Given the description of an element on the screen output the (x, y) to click on. 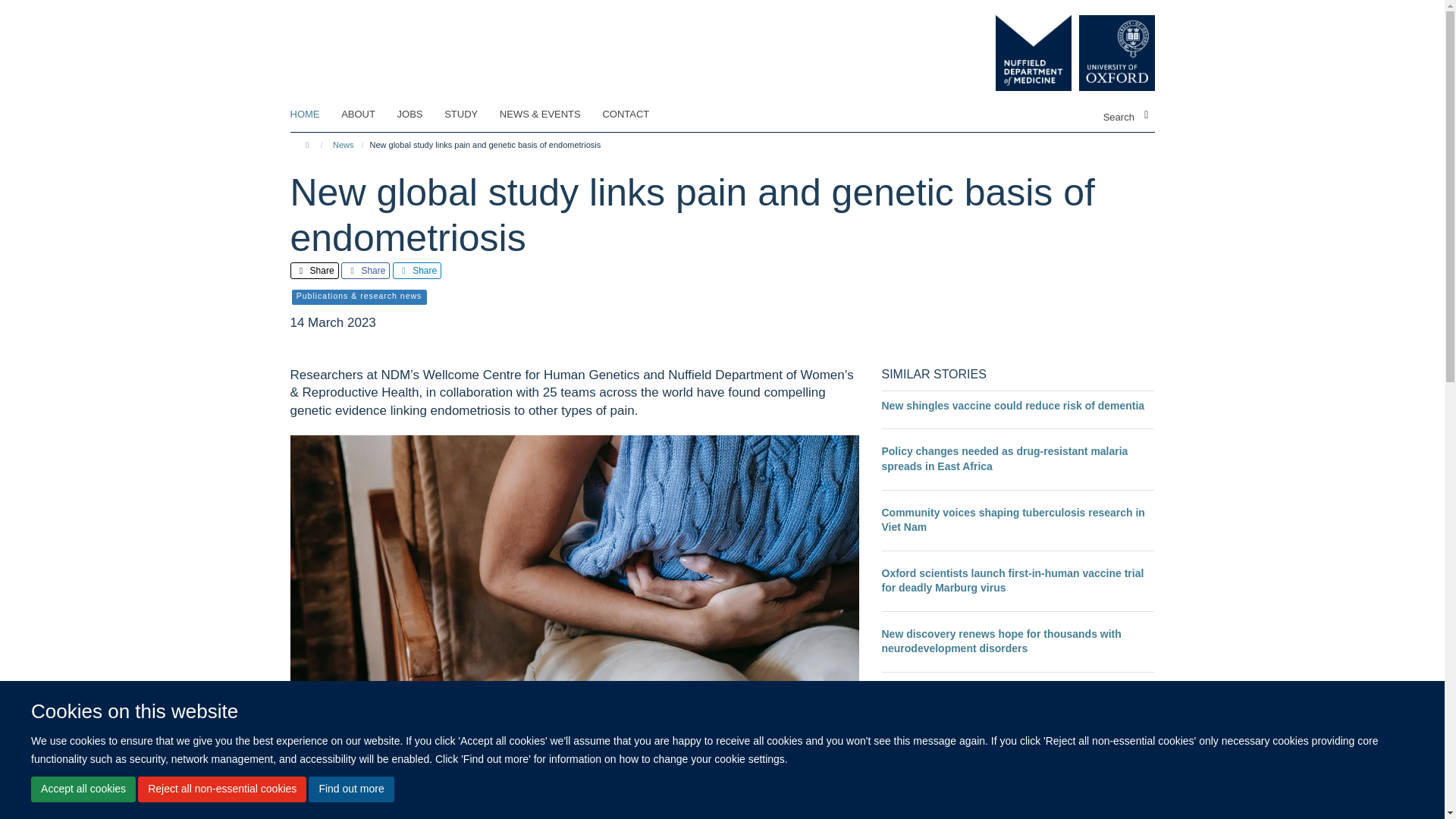
Reject all non-essential cookies (221, 789)
HOME (313, 114)
Find out more (350, 789)
ABOUT (367, 114)
Accept all cookies (82, 789)
